Given the description of an element on the screen output the (x, y) to click on. 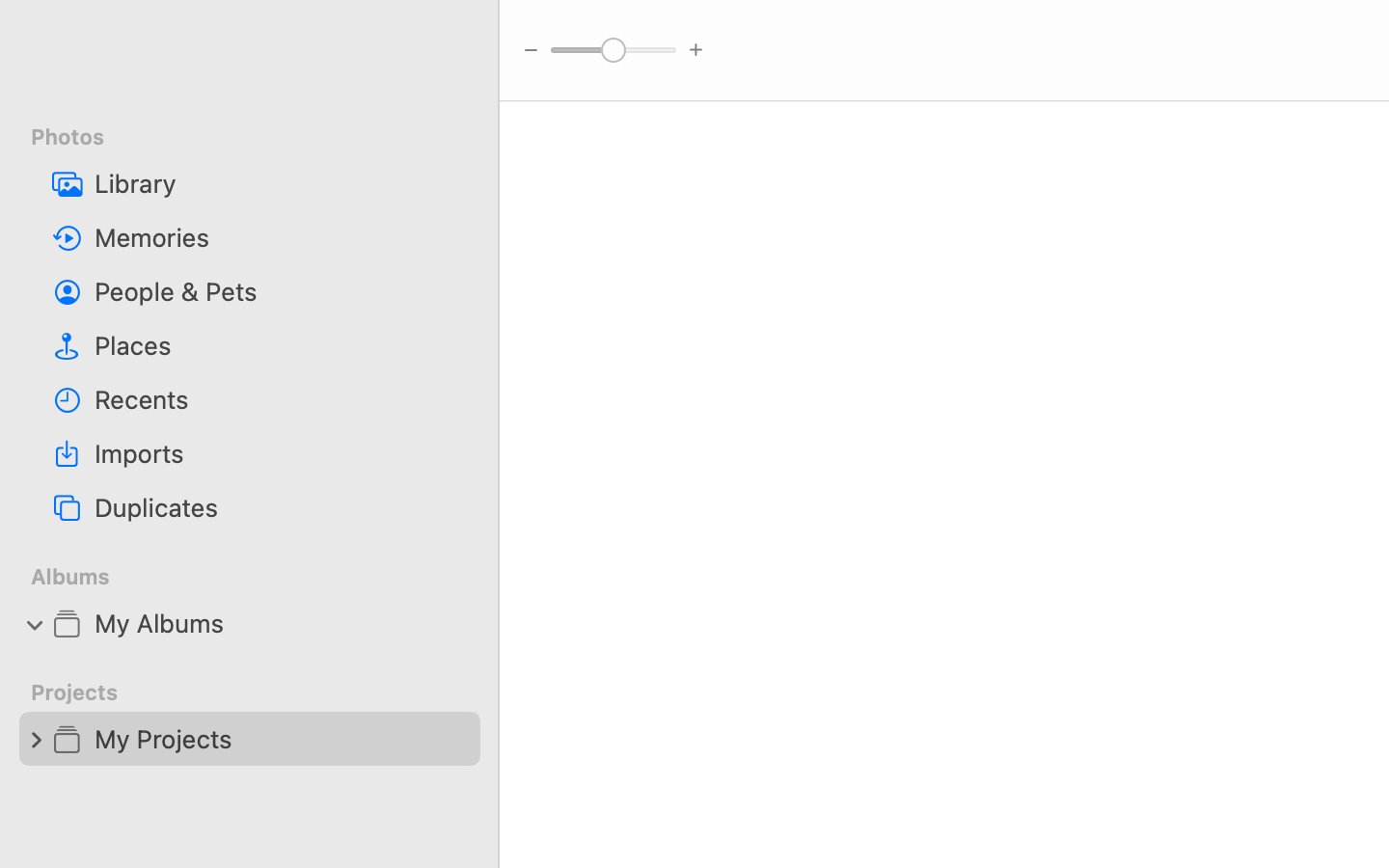
Imports Element type: AXStaticText (279, 452)
1 Element type: AXDisclosureTriangle (35, 623)
0 Element type: AXDisclosureTriangle (35, 738)
Library Element type: AXStaticText (279, 182)
Memories Element type: AXStaticText (279, 236)
